Given the description of an element on the screen output the (x, y) to click on. 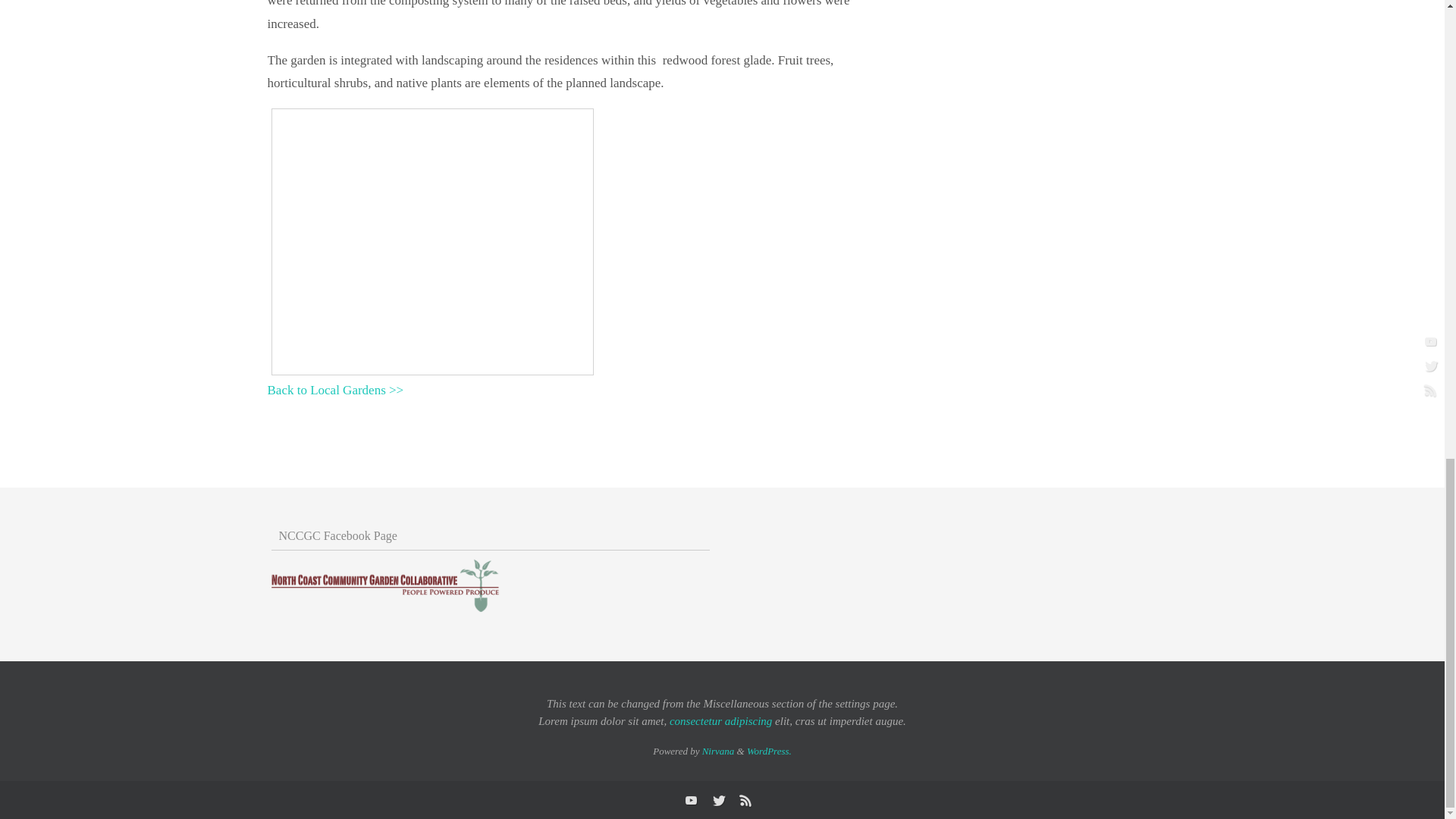
RSS (745, 799)
Twitter (717, 799)
Nirvana (718, 750)
Semantic Personal Publishing Platform (769, 750)
Nirvana Theme by Cryout Creations (718, 750)
consectetur adipiscing (720, 720)
YouTube (690, 799)
WordPress. (769, 750)
